Given the description of an element on the screen output the (x, y) to click on. 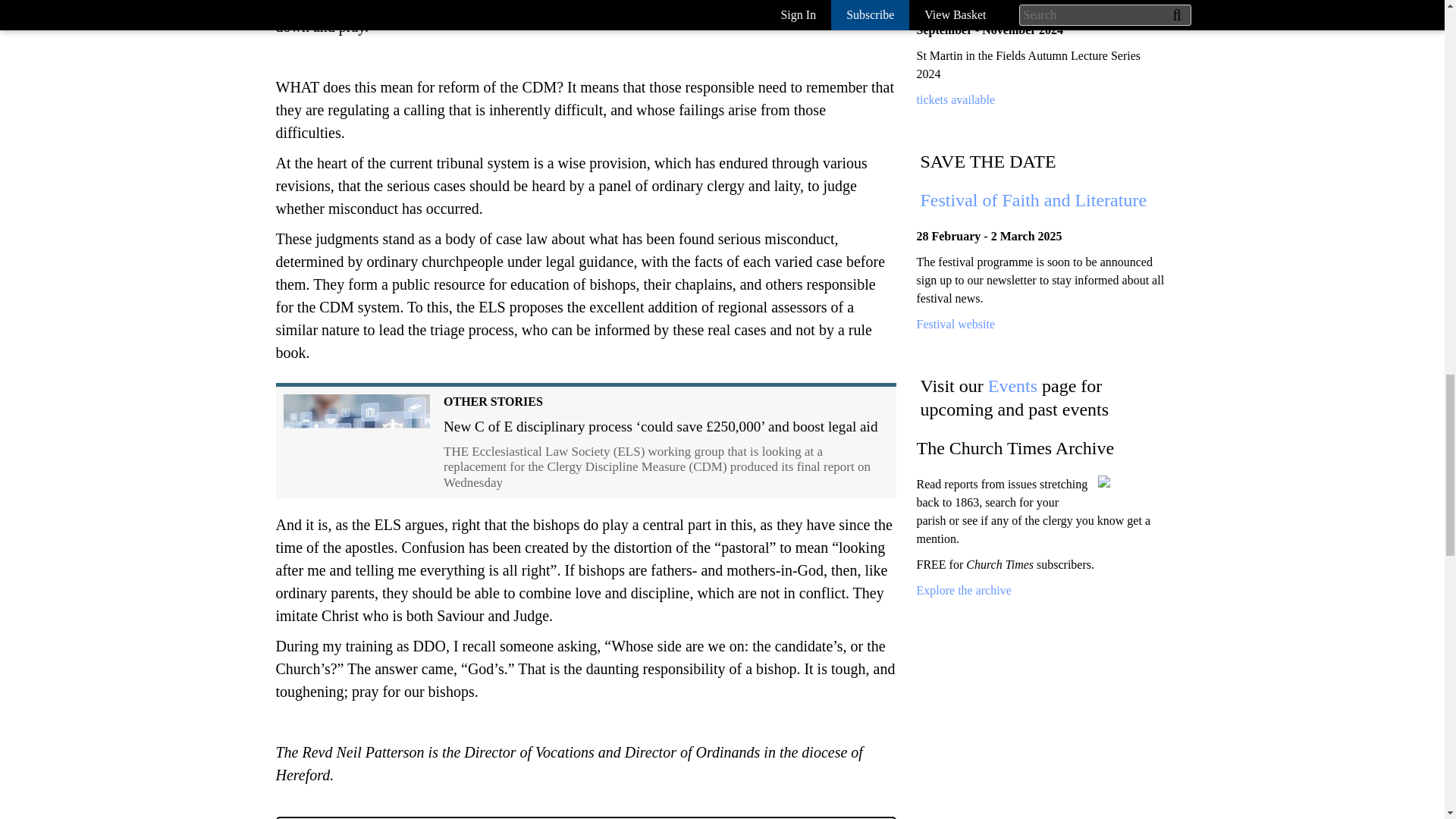
Inspiration: The Influences That Have Shaped My Life (1037, 1)
Archive (962, 590)
Inspiration: The Influences That Have Shaped My Life (954, 99)
